Given the description of an element on the screen output the (x, y) to click on. 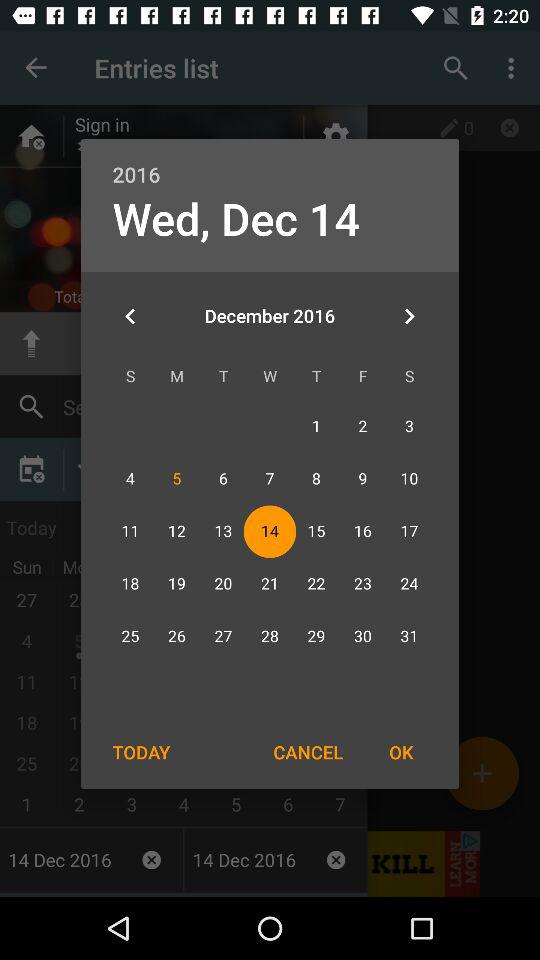
turn off the icon next to the ok icon (308, 751)
